Given the description of an element on the screen output the (x, y) to click on. 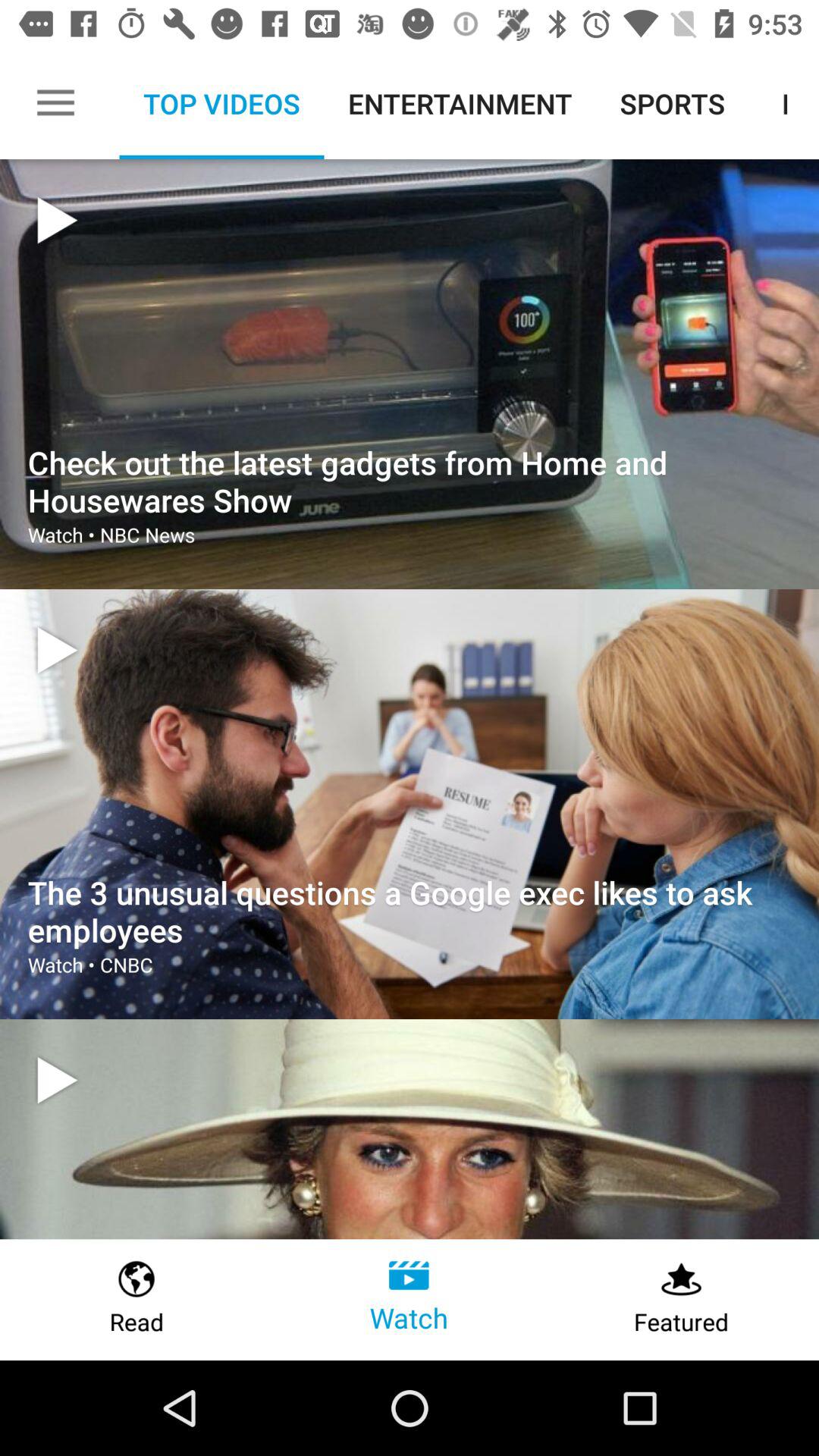
play video icon (56, 649)
